Given the description of an element on the screen output the (x, y) to click on. 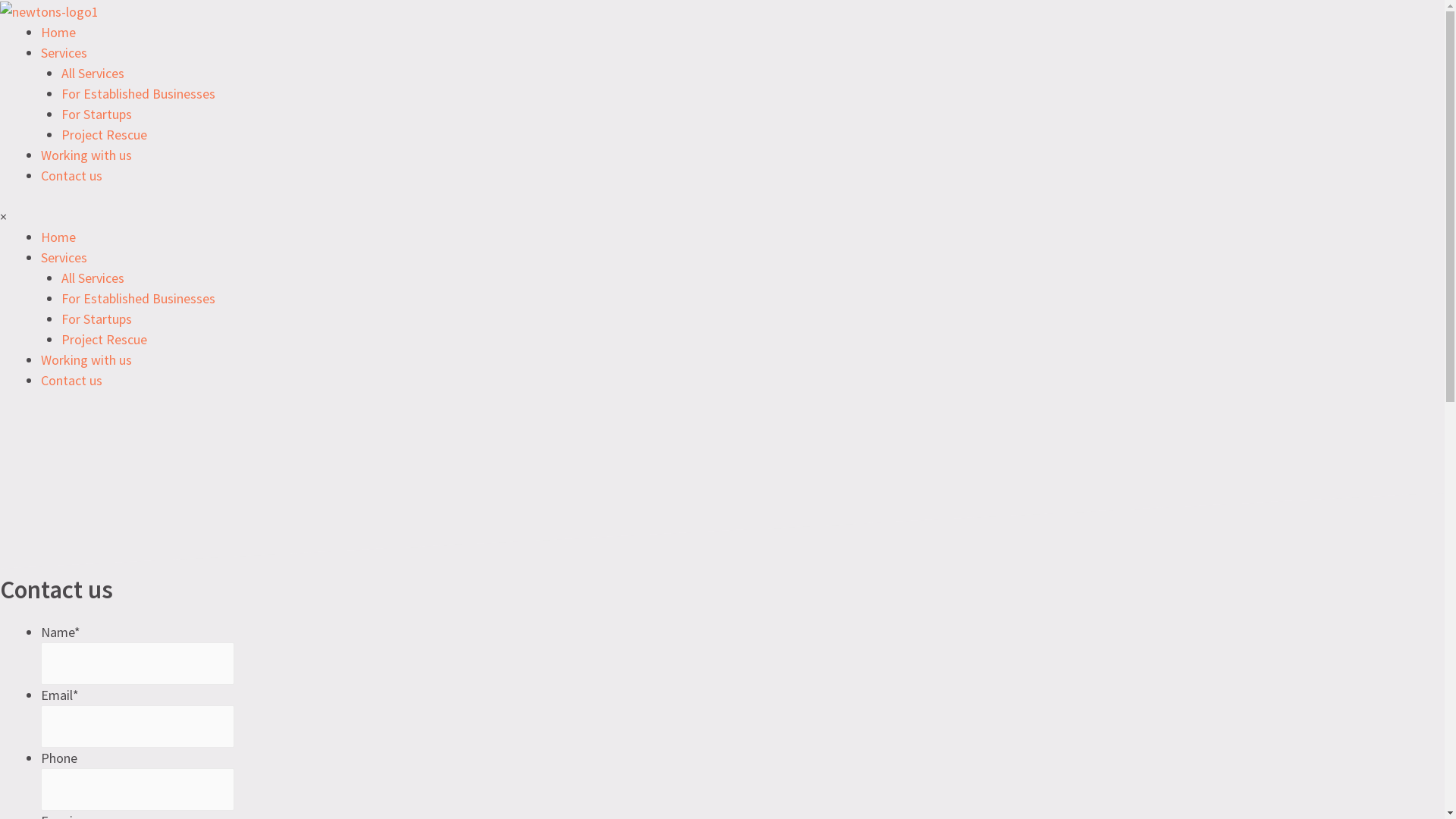
All Services Element type: text (92, 72)
newtons-logo1 Element type: hover (49, 11)
For Established Businesses Element type: text (138, 93)
Home Element type: text (57, 236)
For Established Businesses Element type: text (138, 298)
Working with us Element type: text (85, 359)
Contact us Element type: text (71, 380)
Services Element type: text (63, 52)
Services Element type: text (63, 257)
Home Element type: text (57, 31)
All Services Element type: text (92, 277)
Project Rescue Element type: text (104, 339)
For Startups Element type: text (96, 318)
Contact us Element type: text (71, 175)
For Startups Element type: text (96, 113)
Working with us Element type: text (85, 154)
Project Rescue Element type: text (104, 134)
